Given the description of an element on the screen output the (x, y) to click on. 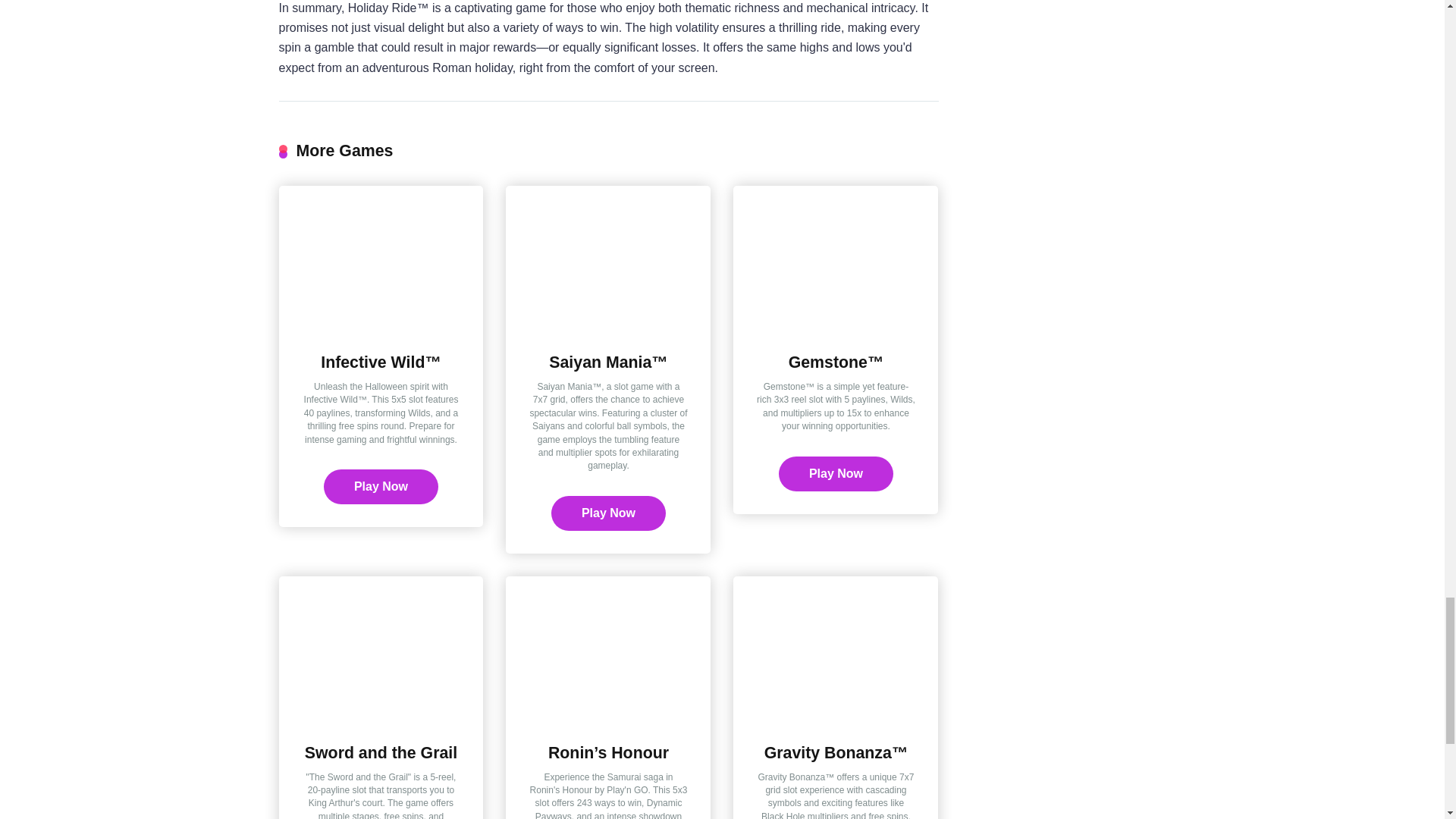
Play Now (380, 486)
Play Now (835, 473)
Sword and the Grail (381, 716)
Play Now (380, 486)
Sword and the Grail (380, 752)
Play Now (835, 473)
Sword and the Grail (380, 752)
Play Now (608, 513)
Play Now (608, 513)
